Given the description of an element on the screen output the (x, y) to click on. 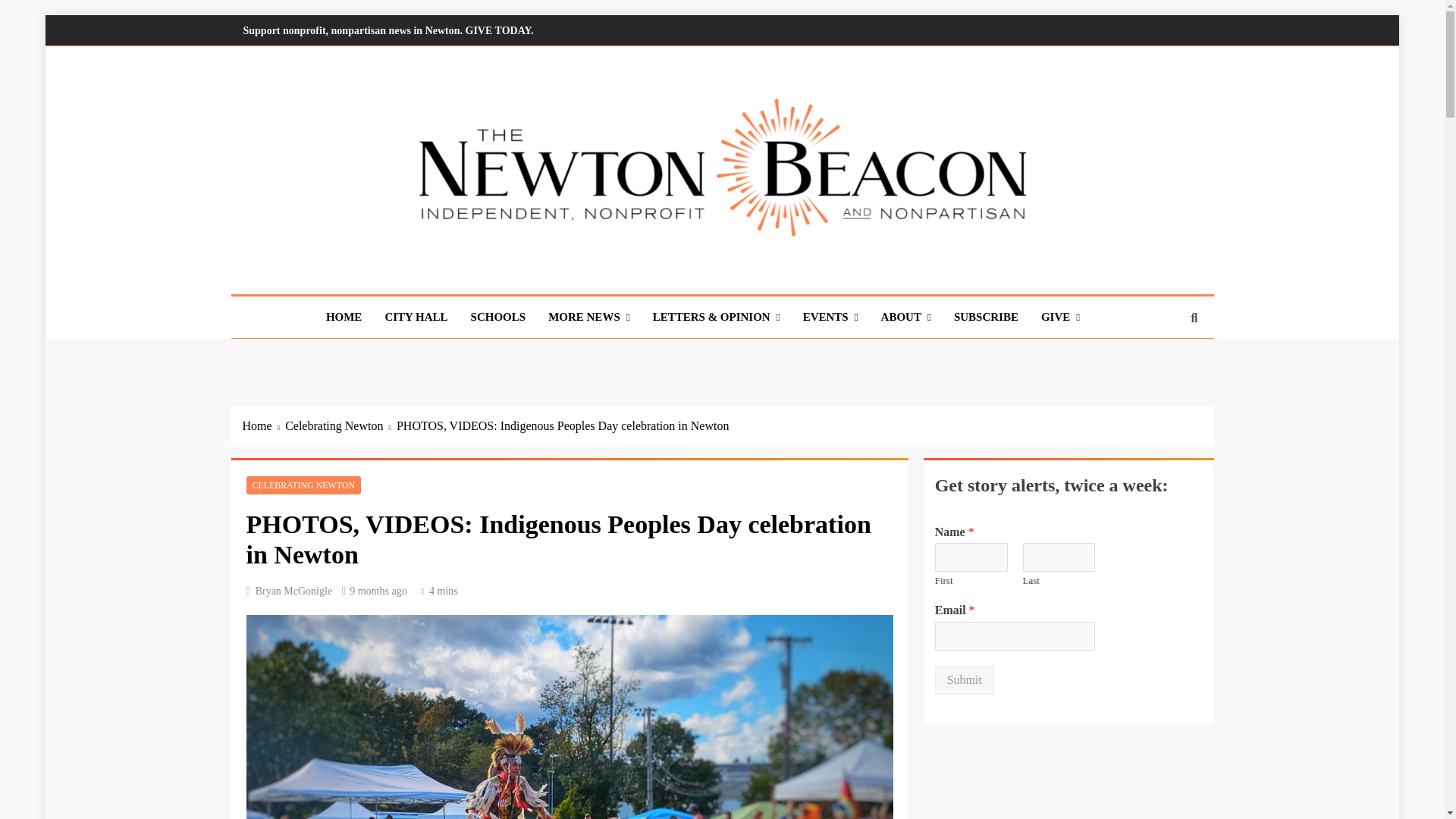
HOME (344, 316)
SUBSCRIBE (985, 316)
EVENTS (830, 317)
GIVE (1059, 317)
CITY HALL (415, 316)
SCHOOLS (498, 316)
ABOUT (905, 317)
Support nonprofit, nonpartisan news in Newton. GIVE TODAY. (387, 30)
Newton Beacon (347, 269)
MORE NEWS (589, 317)
